Given the description of an element on the screen output the (x, y) to click on. 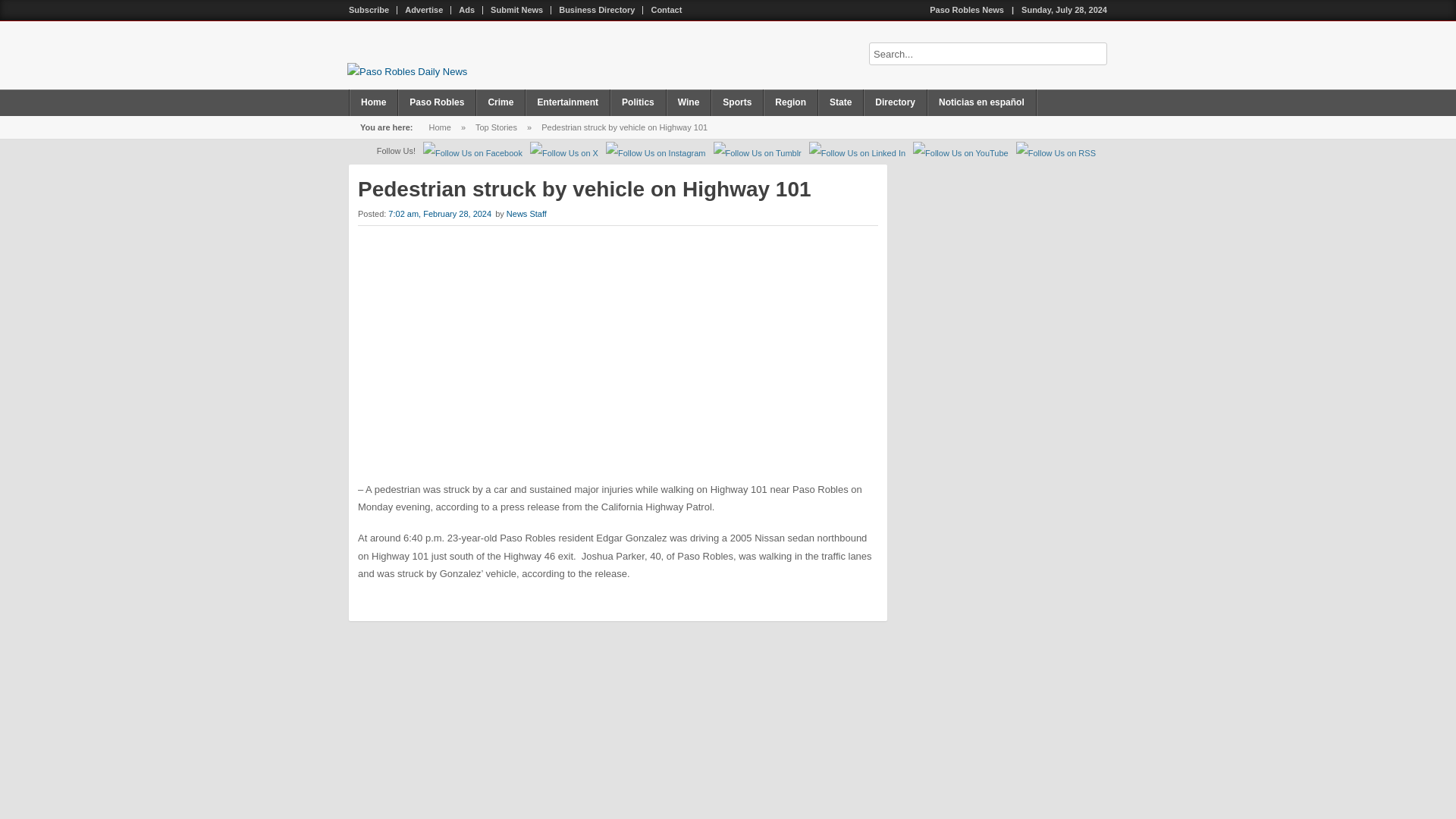
Directory (895, 102)
Subscribe (368, 9)
Region (790, 102)
Follow Us on Linked In (857, 152)
Wine (688, 102)
Entertainment (567, 102)
Follow Us on RSS (1056, 152)
Crime (500, 102)
Top Stories (496, 126)
Search... (987, 53)
Paso Robles (436, 102)
Paso Robles Business Directory (597, 9)
Advertise (424, 9)
Follow Us on X (563, 152)
Sports (736, 102)
